Given the description of an element on the screen output the (x, y) to click on. 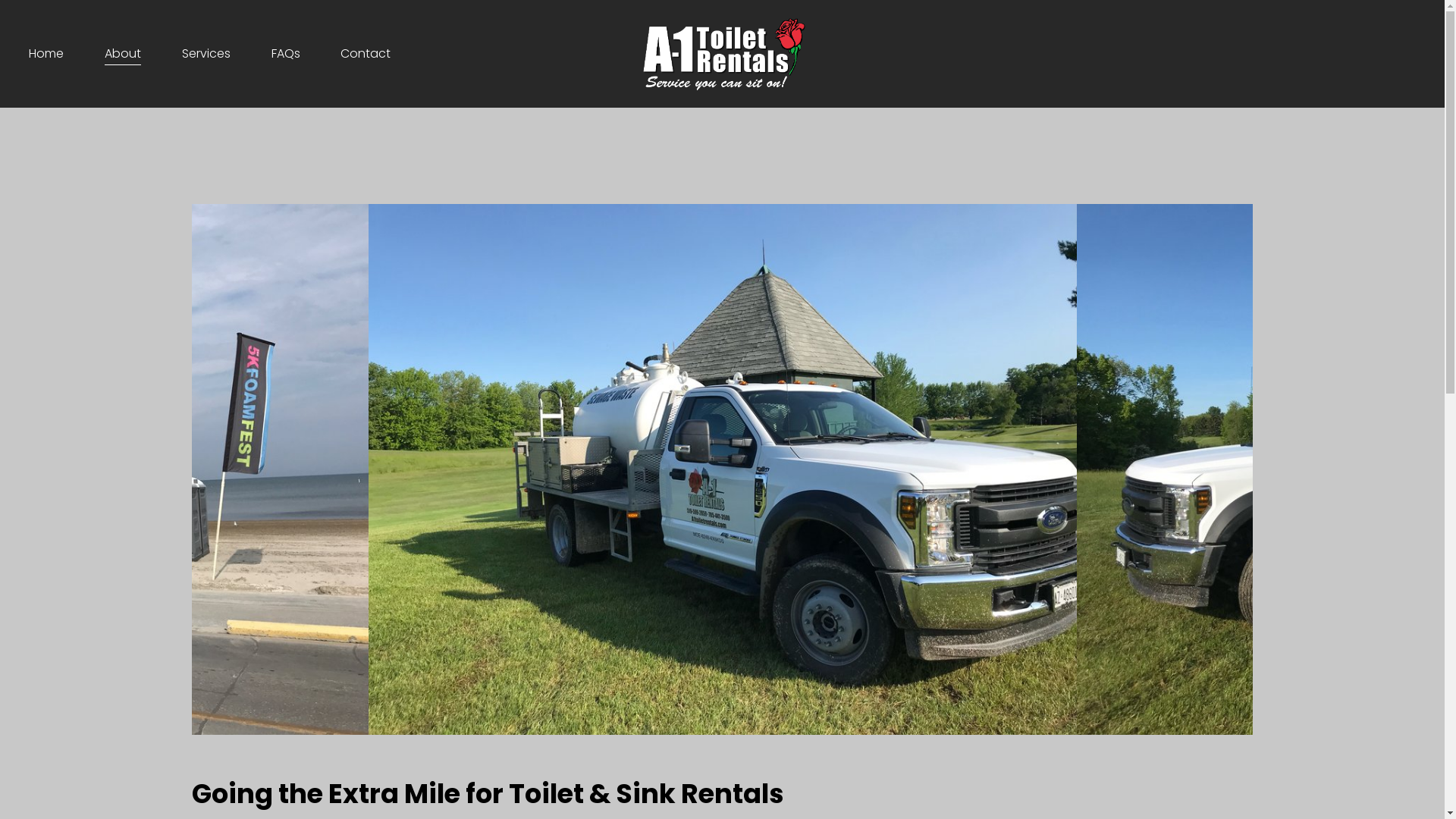
Services Element type: text (206, 53)
About Element type: text (122, 53)
FAQs Element type: text (285, 53)
Home Element type: text (45, 53)
Contact Element type: text (365, 53)
